Given the description of an element on the screen output the (x, y) to click on. 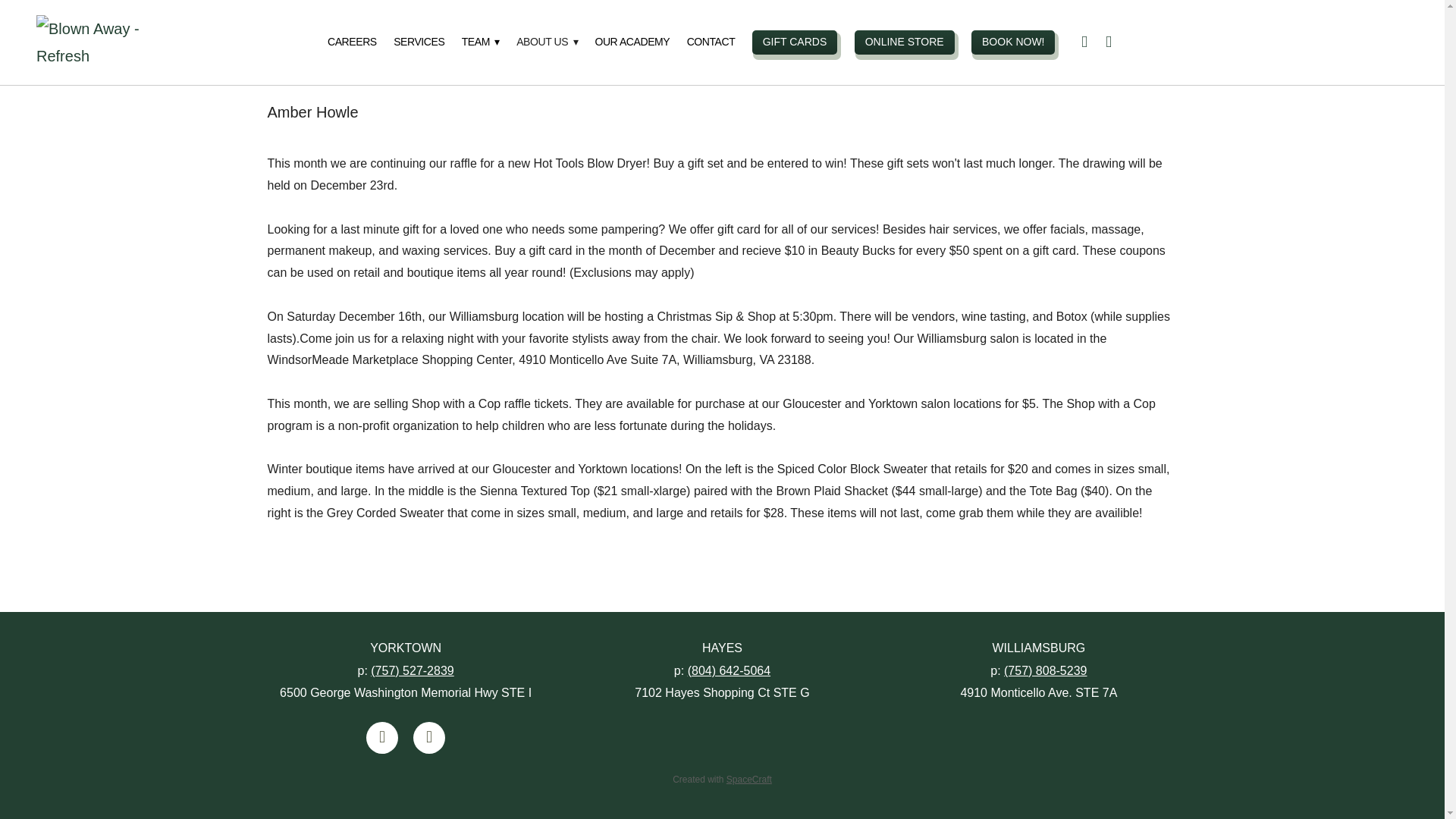
OUR ACADEMY (631, 42)
GIFT CARDS (795, 42)
CONTACT (711, 42)
CAREERS (352, 42)
ONLINE STORE (904, 42)
Created with SpaceCraft (721, 778)
BOOK NOW! (1012, 42)
SERVICES (418, 42)
Blown Away - Refresh (109, 42)
